Given the description of an element on the screen output the (x, y) to click on. 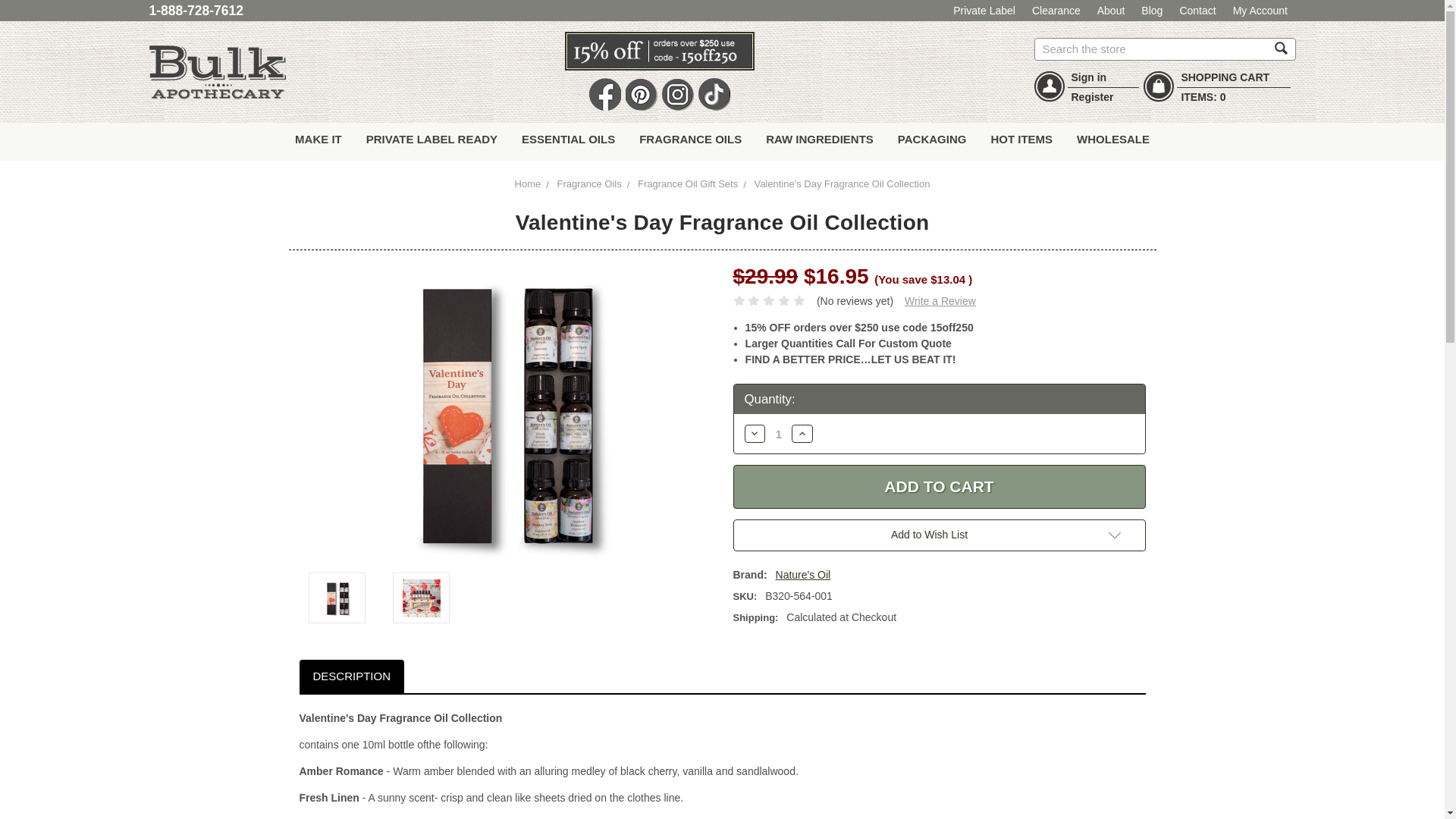
1-888-728-7612 (195, 10)
TikTok (713, 94)
My Account (1259, 10)
Valentine's Day Fragrance Oil Collection (337, 598)
Facebook (604, 94)
Pin It (640, 94)
About (1111, 10)
MAKE IT (317, 140)
Blog (1153, 10)
Add to Cart (938, 486)
Instagram (677, 94)
Contact (1198, 10)
SHOPPING CART (1224, 77)
Valentine's Day Fragrance Oil Collection (422, 598)
Register (1091, 96)
